Given the description of an element on the screen output the (x, y) to click on. 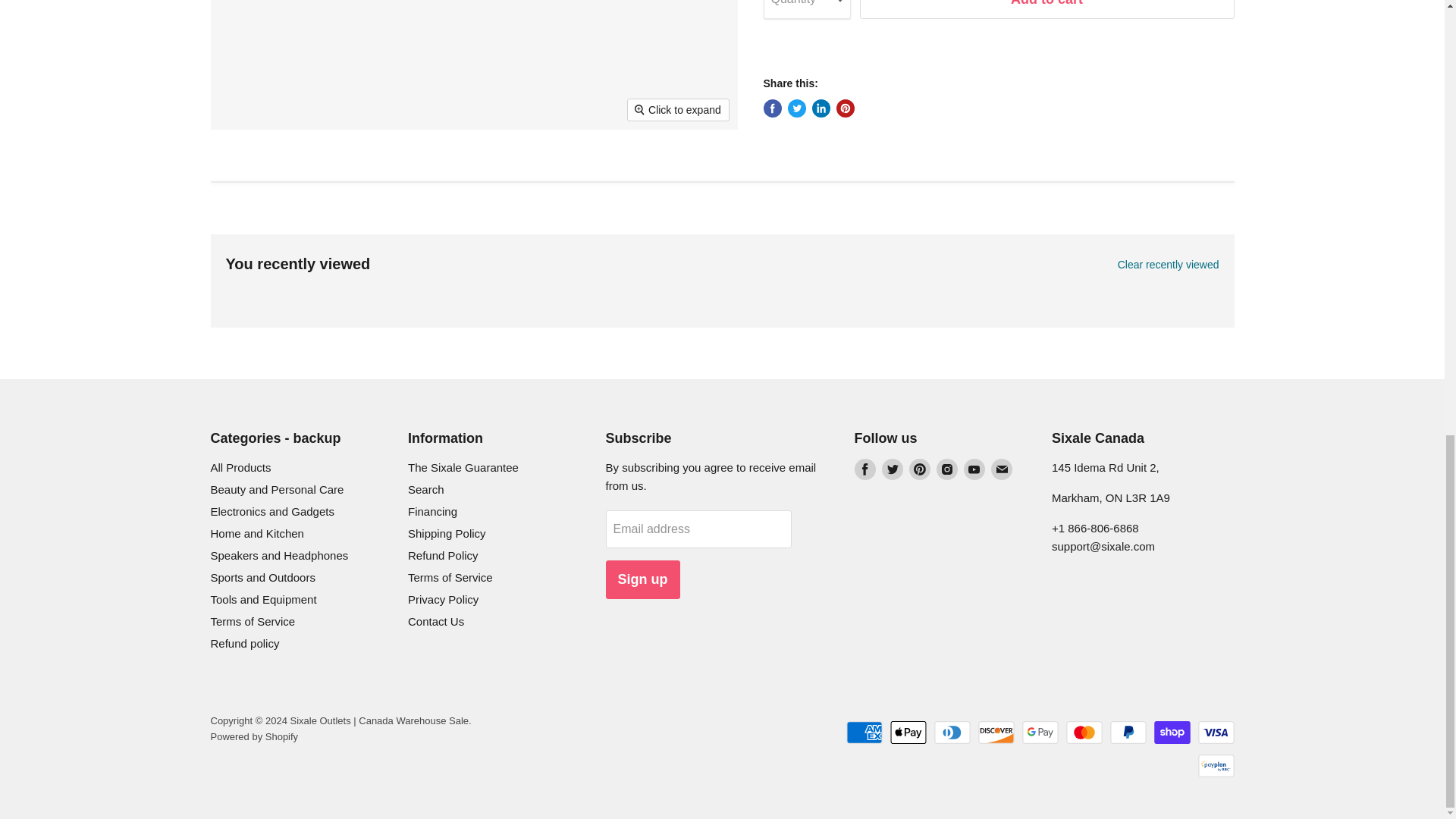
Pinterest (919, 468)
Youtube (973, 468)
Twitter (891, 468)
Facebook (864, 468)
Instagram (946, 468)
Email (1000, 468)
